Given the description of an element on the screen output the (x, y) to click on. 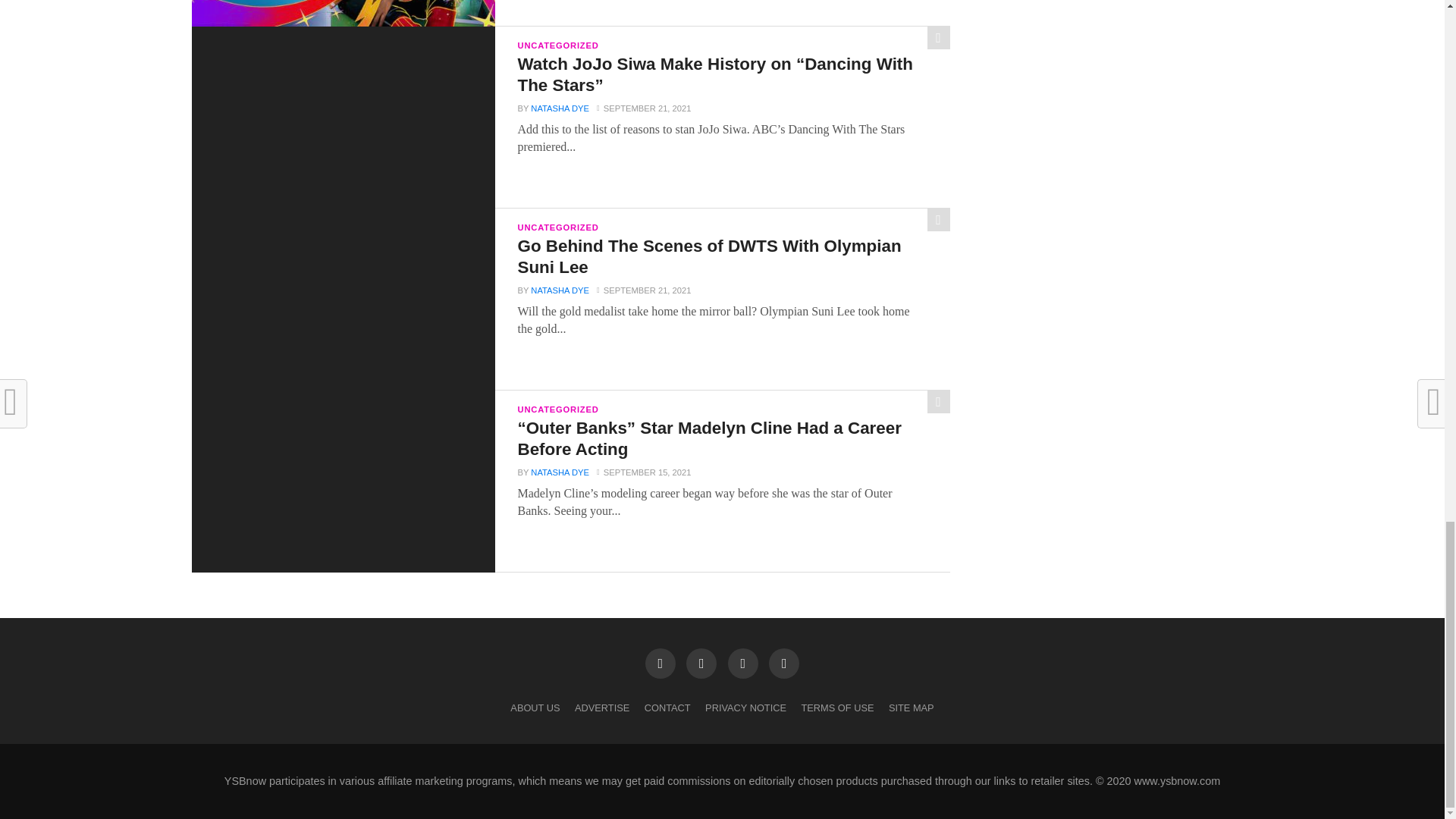
Posts by Natasha Dye (560, 108)
